Given the description of an element on the screen output the (x, y) to click on. 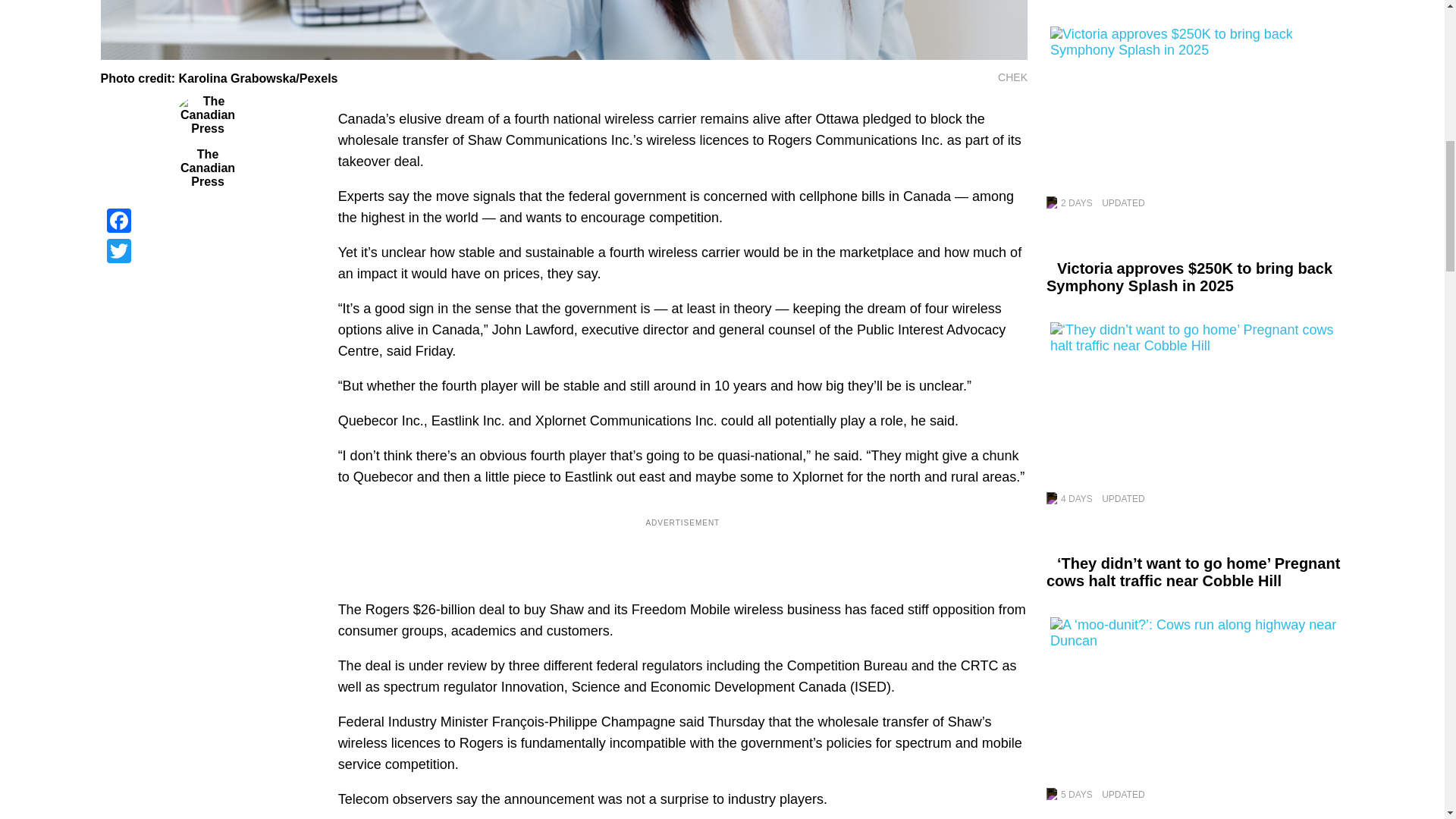
Facebook (207, 220)
Twitter (207, 250)
